Given the description of an element on the screen output the (x, y) to click on. 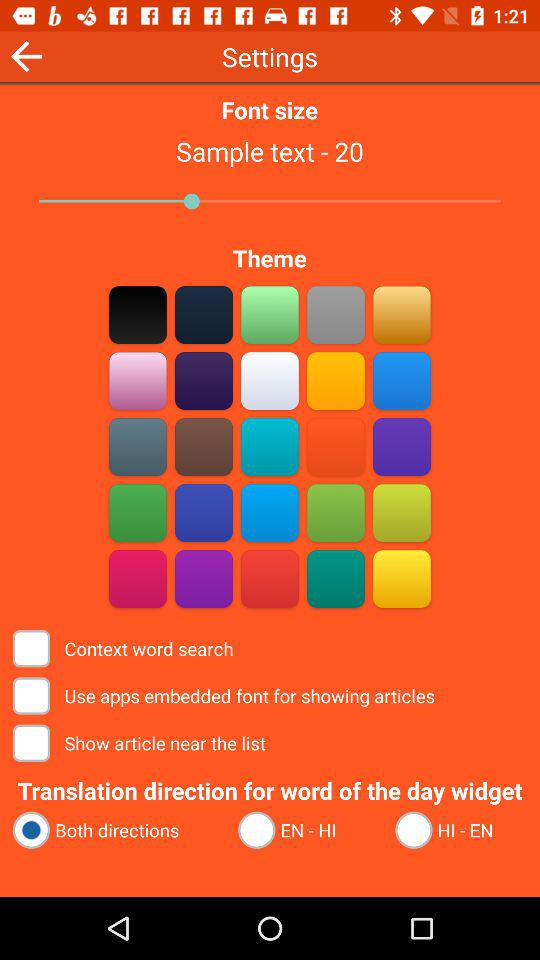
select the color green (269, 314)
